Given the description of an element on the screen output the (x, y) to click on. 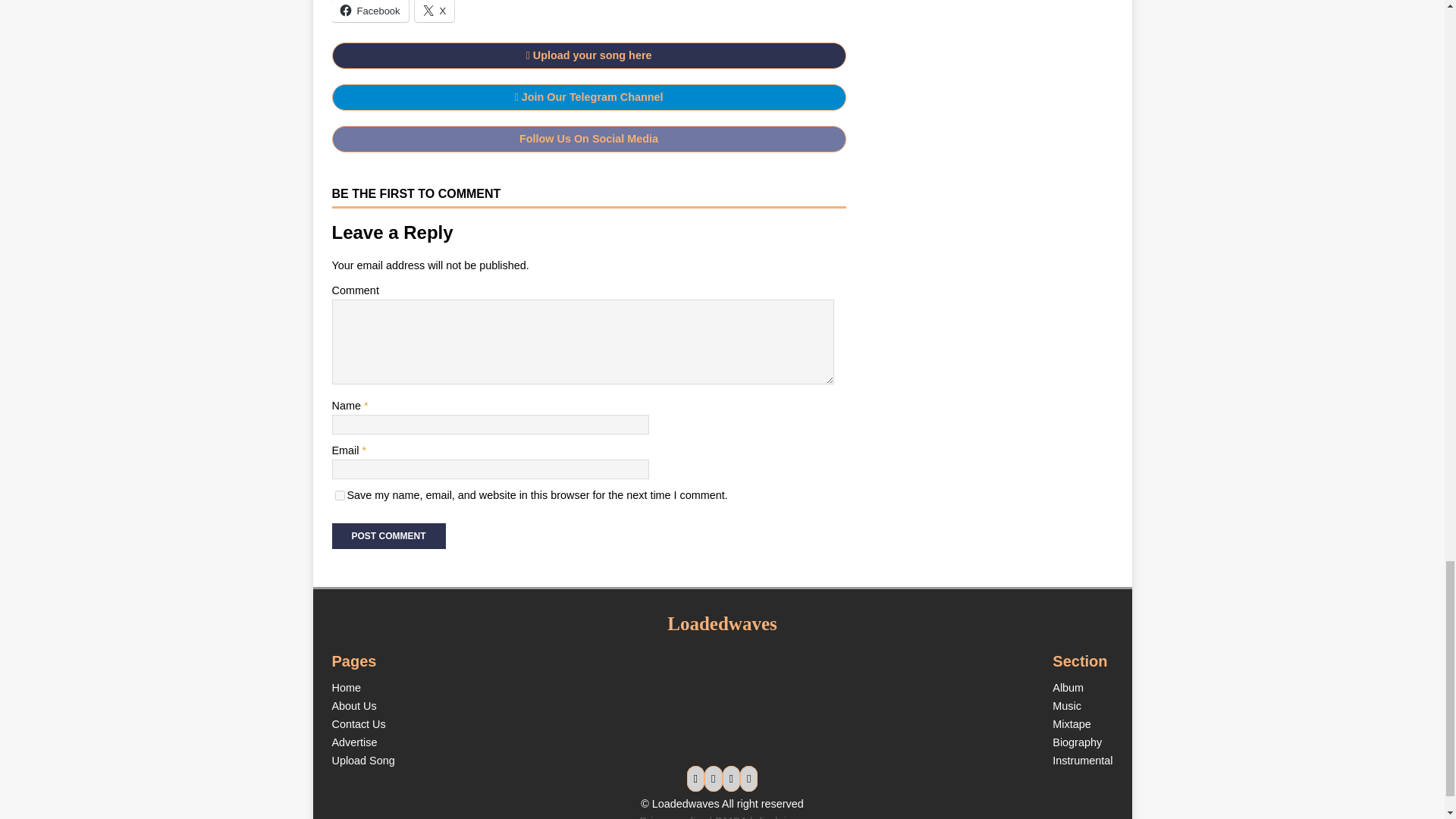
X (434, 11)
Facebook (370, 11)
Follow Us On Social Media (588, 138)
Post Comment (388, 535)
Click to share on X (434, 11)
Join Our Telegram Channel (587, 96)
Post Comment (388, 535)
Click to share on Facebook (370, 11)
yes (339, 495)
Upload your song here (588, 55)
